Given the description of an element on the screen output the (x, y) to click on. 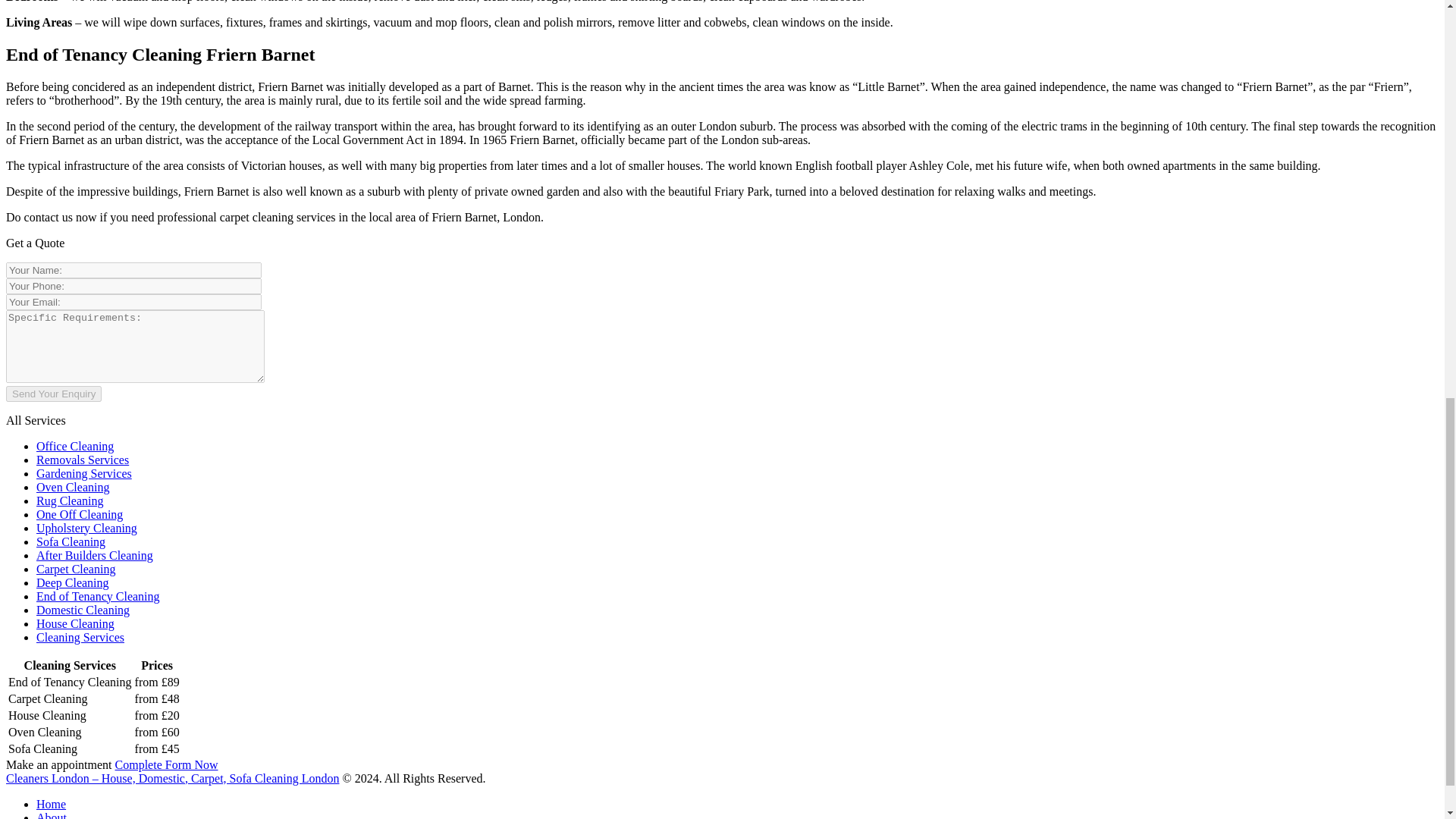
Cleaning Services (79, 636)
Send Your Enquiry (53, 392)
Send Your Enquiry (53, 392)
Domestic Cleaning (82, 609)
Home (50, 803)
Deep Cleaning (72, 582)
House Cleaning (75, 623)
Complete Form Now (166, 764)
Oven Cleaning (72, 486)
Upholstery Cleaning (86, 527)
